Given the description of an element on the screen output the (x, y) to click on. 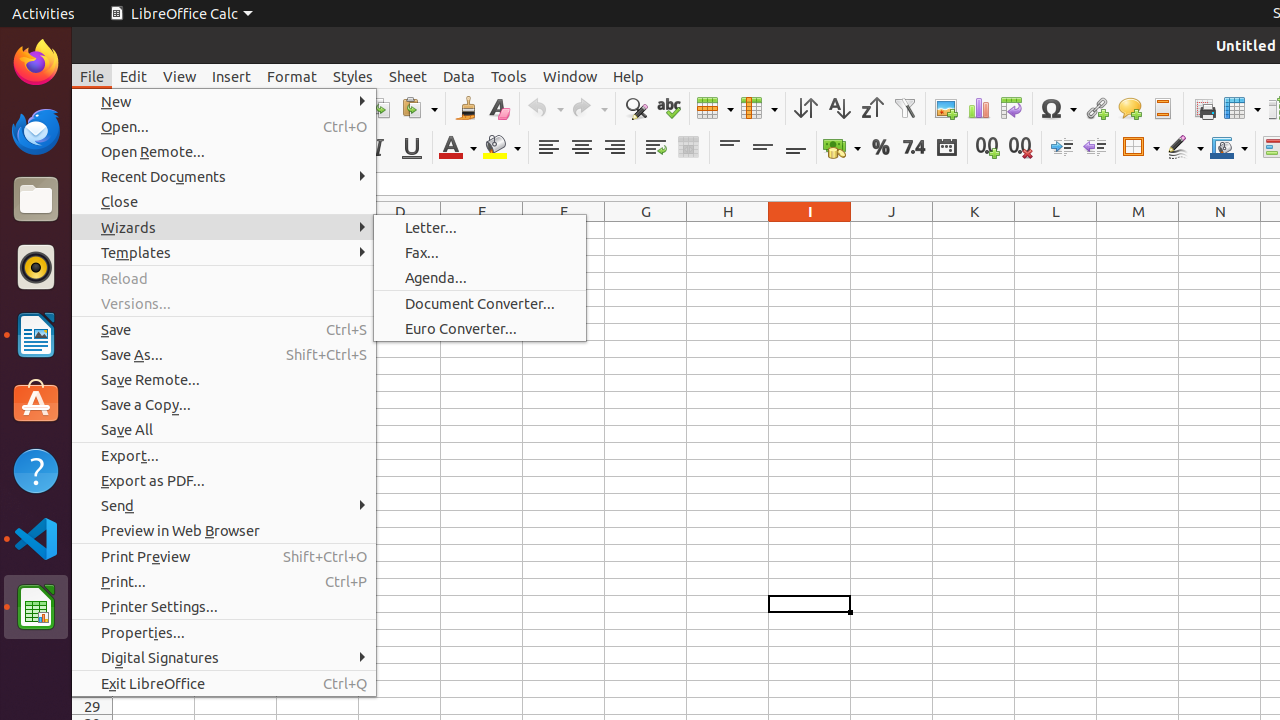
Export... Element type: menu-item (224, 455)
Underline Element type: push-button (411, 147)
Print Area Element type: push-button (1203, 108)
H1 Element type: table-cell (728, 230)
Paste Element type: push-button (419, 108)
